Given the description of an element on the screen output the (x, y) to click on. 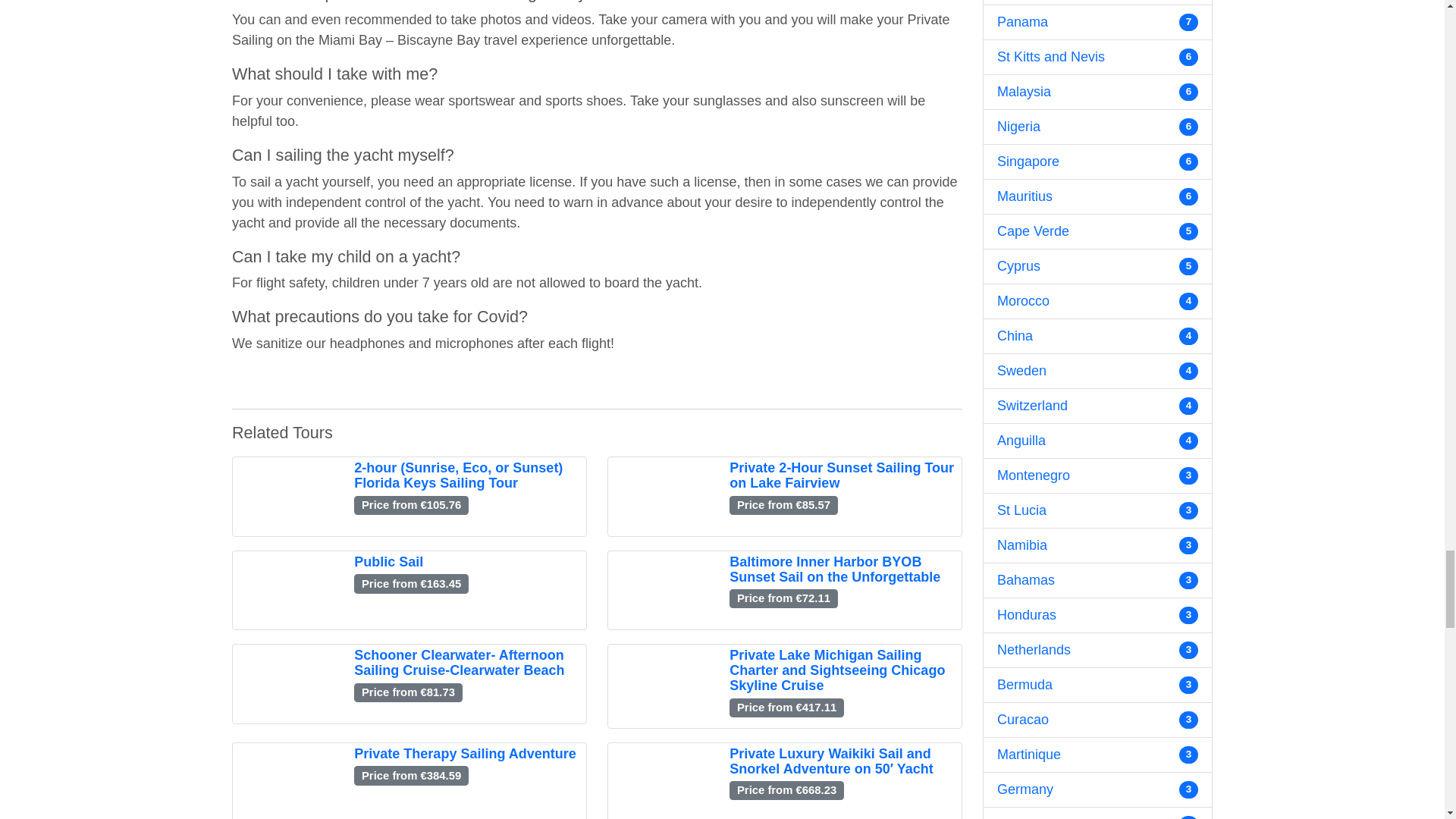
Private 2-Hour Sunset Sailing Tour on Lake Fairview (841, 475)
Public Sail (388, 561)
Baltimore Inner Harbor BYOB Sunset Sail on the Unforgettable (834, 569)
Private Therapy Sailing Adventure (464, 753)
